Given the description of an element on the screen output the (x, y) to click on. 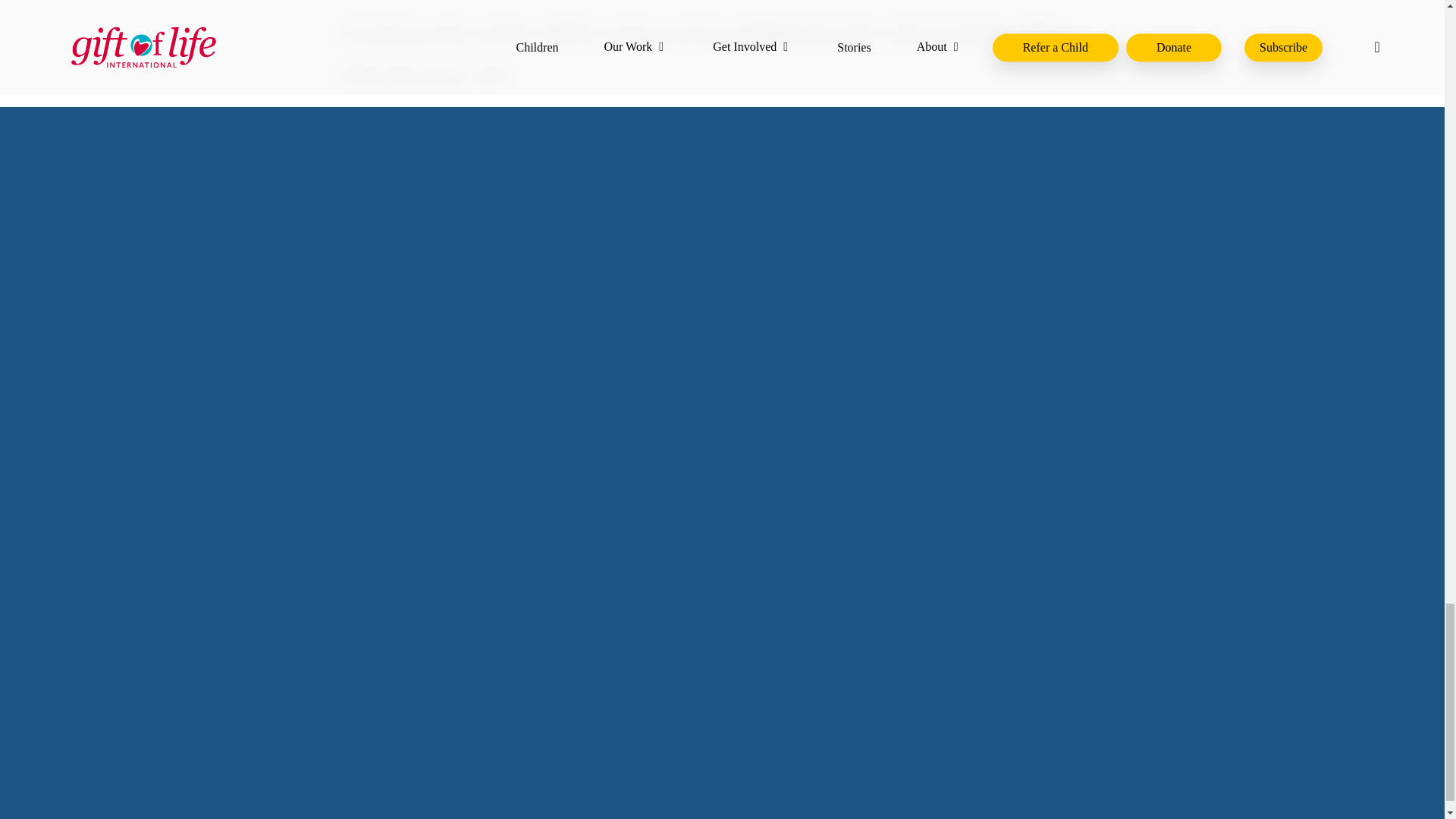
contact us (1042, 33)
